Given the description of an element on the screen output the (x, y) to click on. 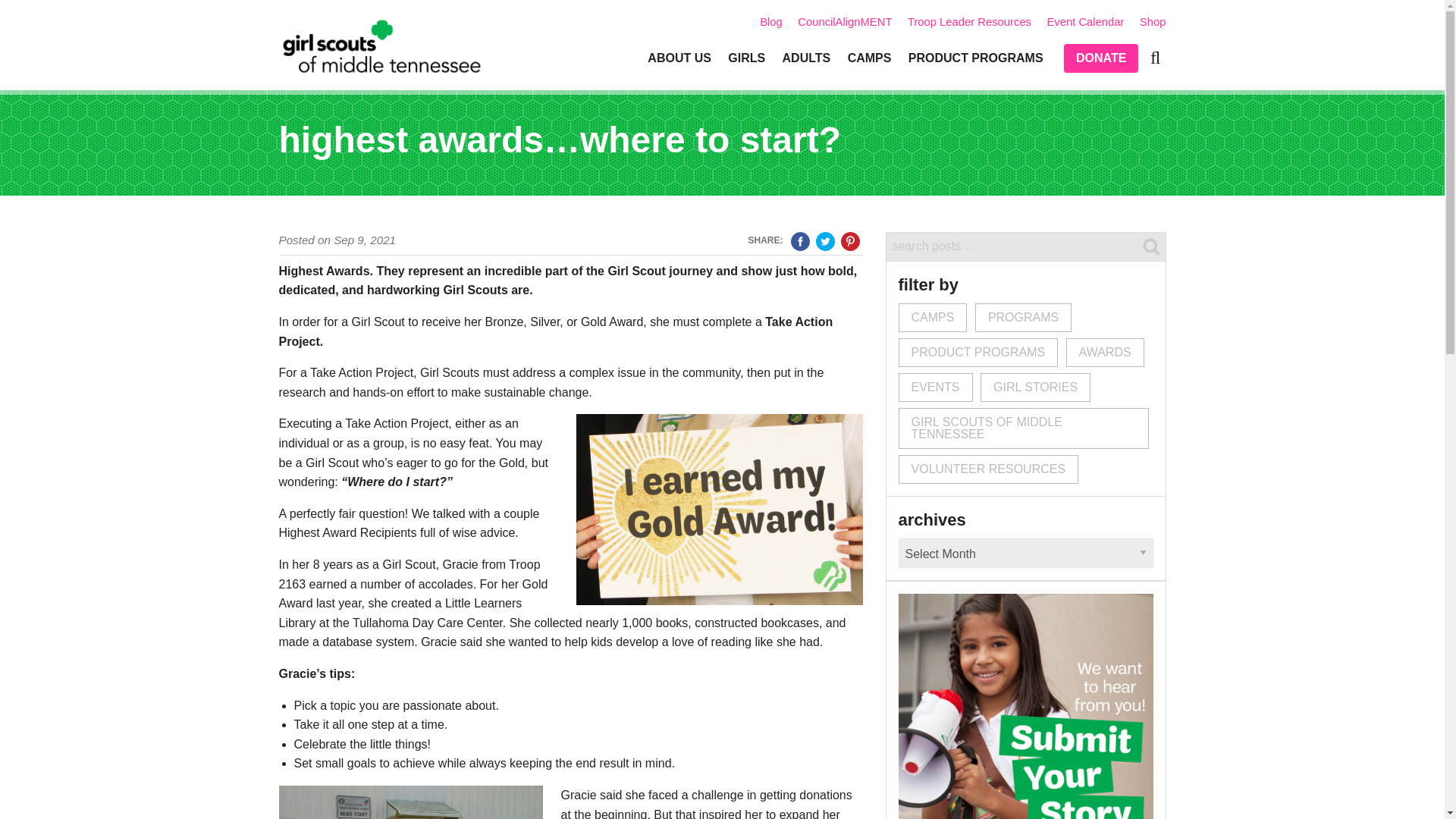
ABOUT US (679, 58)
Event Calendar (1085, 21)
Shop (1153, 21)
Troop Leader Resources (968, 21)
PRODUCT PROGRAMS (975, 58)
CouncilAlignMENT (844, 21)
ADULTS (805, 58)
GIRLS (746, 58)
Blog (771, 21)
TOGGLE SEARCH BAR (1155, 58)
CAMPS (868, 58)
